Given the description of an element on the screen output the (x, y) to click on. 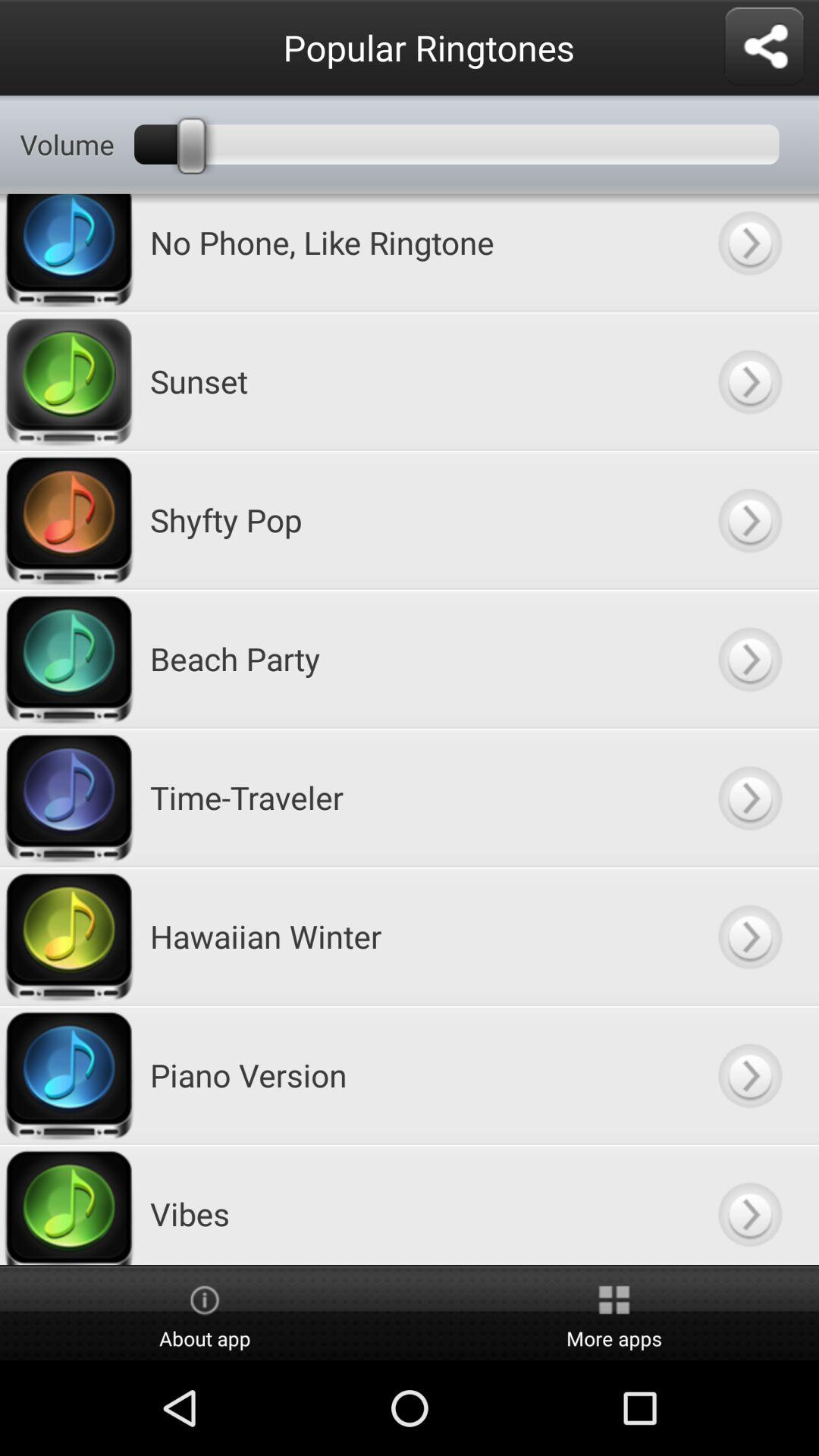
show more information (749, 252)
